Given the description of an element on the screen output the (x, y) to click on. 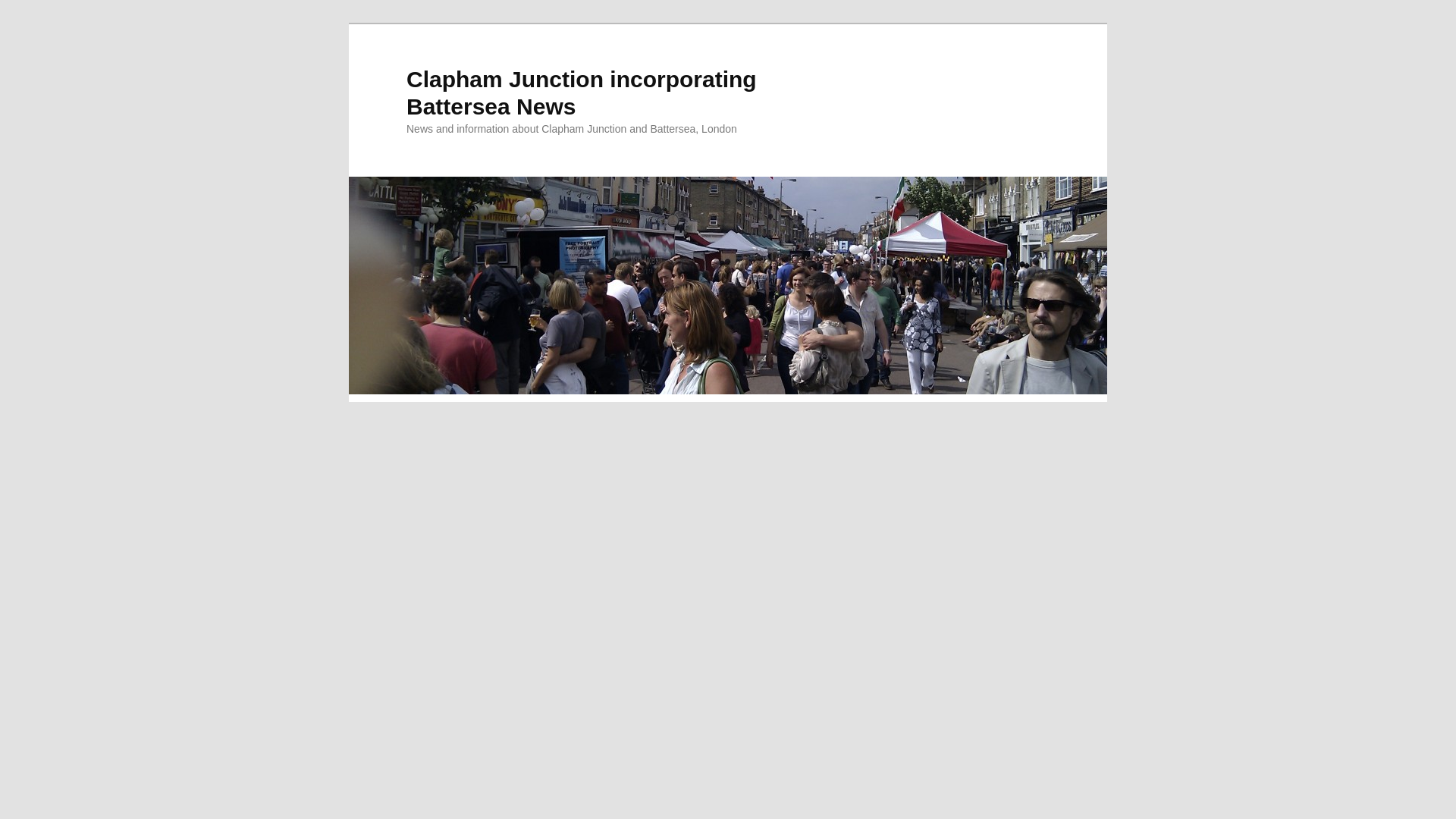
Clapham Junction incorporating Battersea News (581, 92)
Clapham Junction incorporating Battersea News (581, 92)
